Given the description of an element on the screen output the (x, y) to click on. 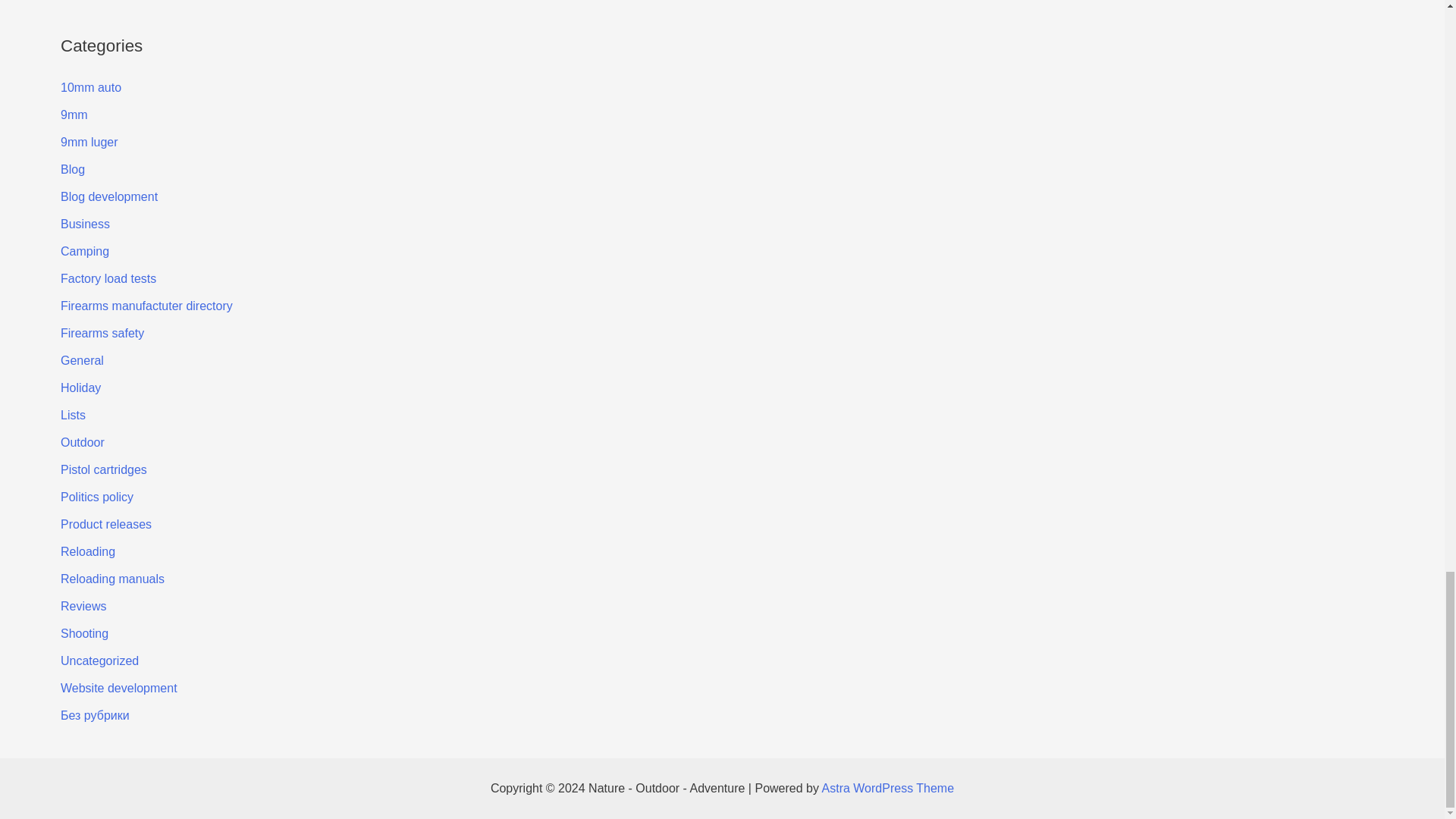
10mm auto (90, 87)
